Given the description of an element on the screen output the (x, y) to click on. 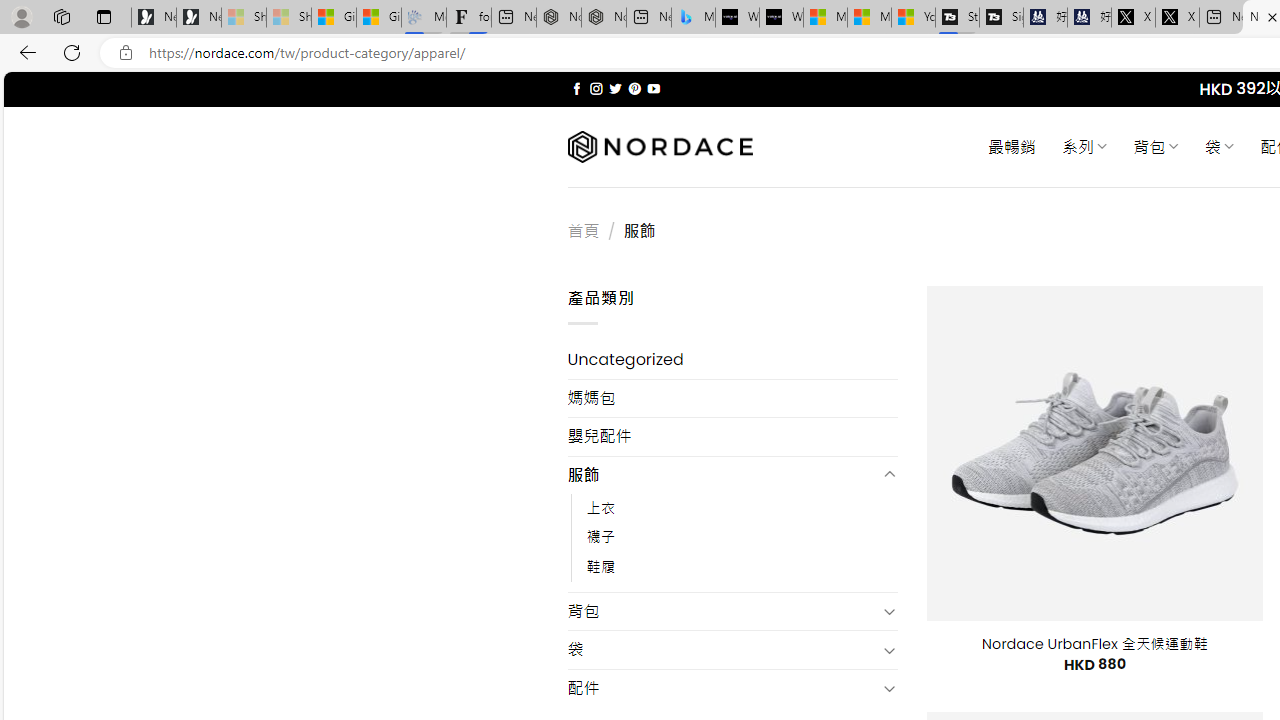
Streaming Coverage | T3 (957, 17)
Follow on YouTube (653, 88)
What's the best AI voice generator? - voice.ai (781, 17)
